Given the description of an element on the screen output the (x, y) to click on. 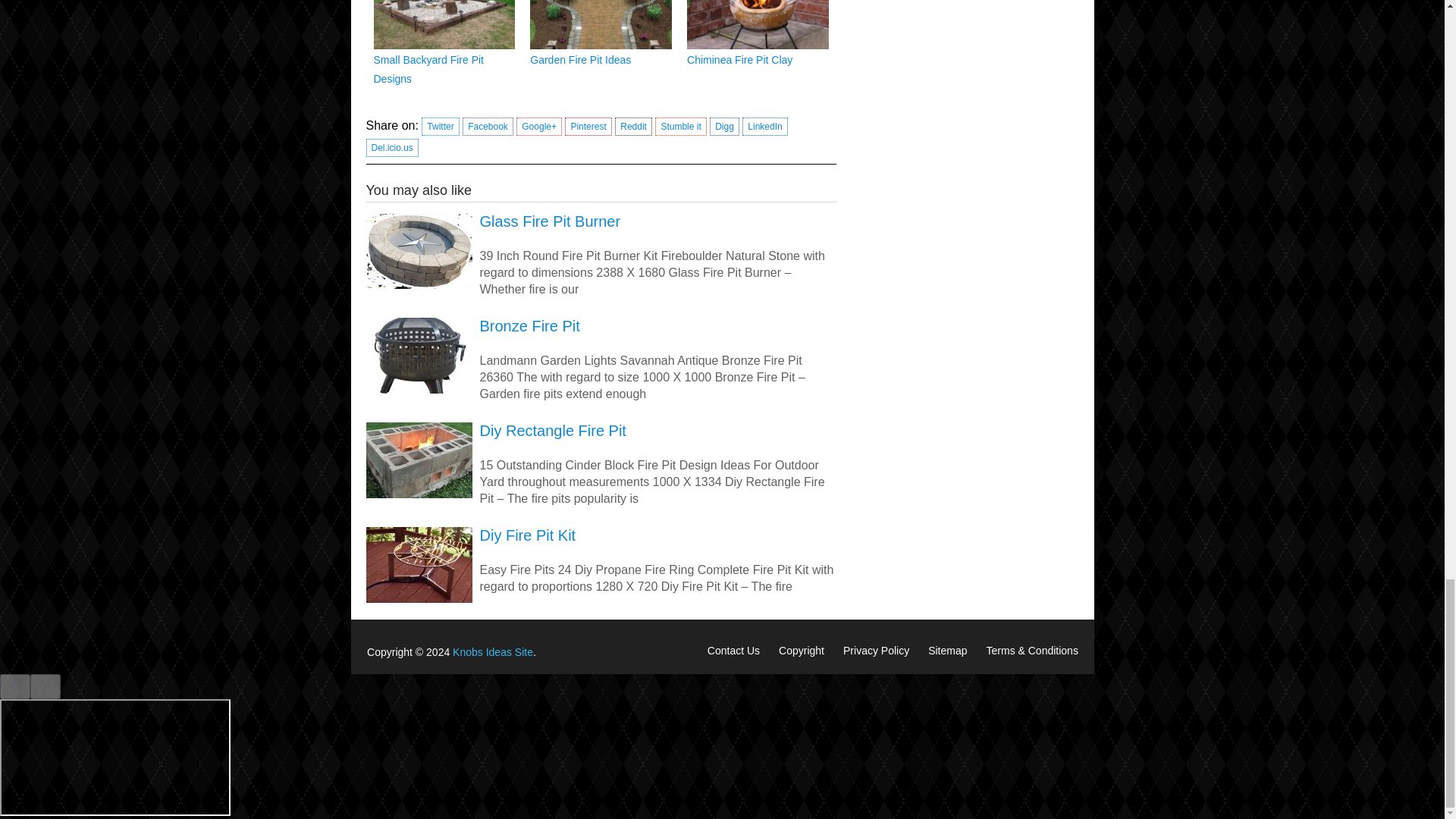
Permalink to: Chiminea Fire Pit Clay (739, 60)
Digg (724, 126)
Diy Rectangle Fire Pit (600, 430)
Bronze Fire Pit (600, 325)
Facebook (488, 126)
Twitter (440, 126)
Permalink to: Garden Fire Pit Ideas (579, 60)
LinkedIn (764, 126)
Diy Fire Pit Kit (600, 535)
Del.icio.us (391, 147)
Reddit (633, 126)
Chiminea Fire Pit Clay (739, 60)
Glass Fire Pit Burner (600, 220)
Stumble it (680, 126)
Small Backyard Fire Pit Designs (427, 69)
